Given the description of an element on the screen output the (x, y) to click on. 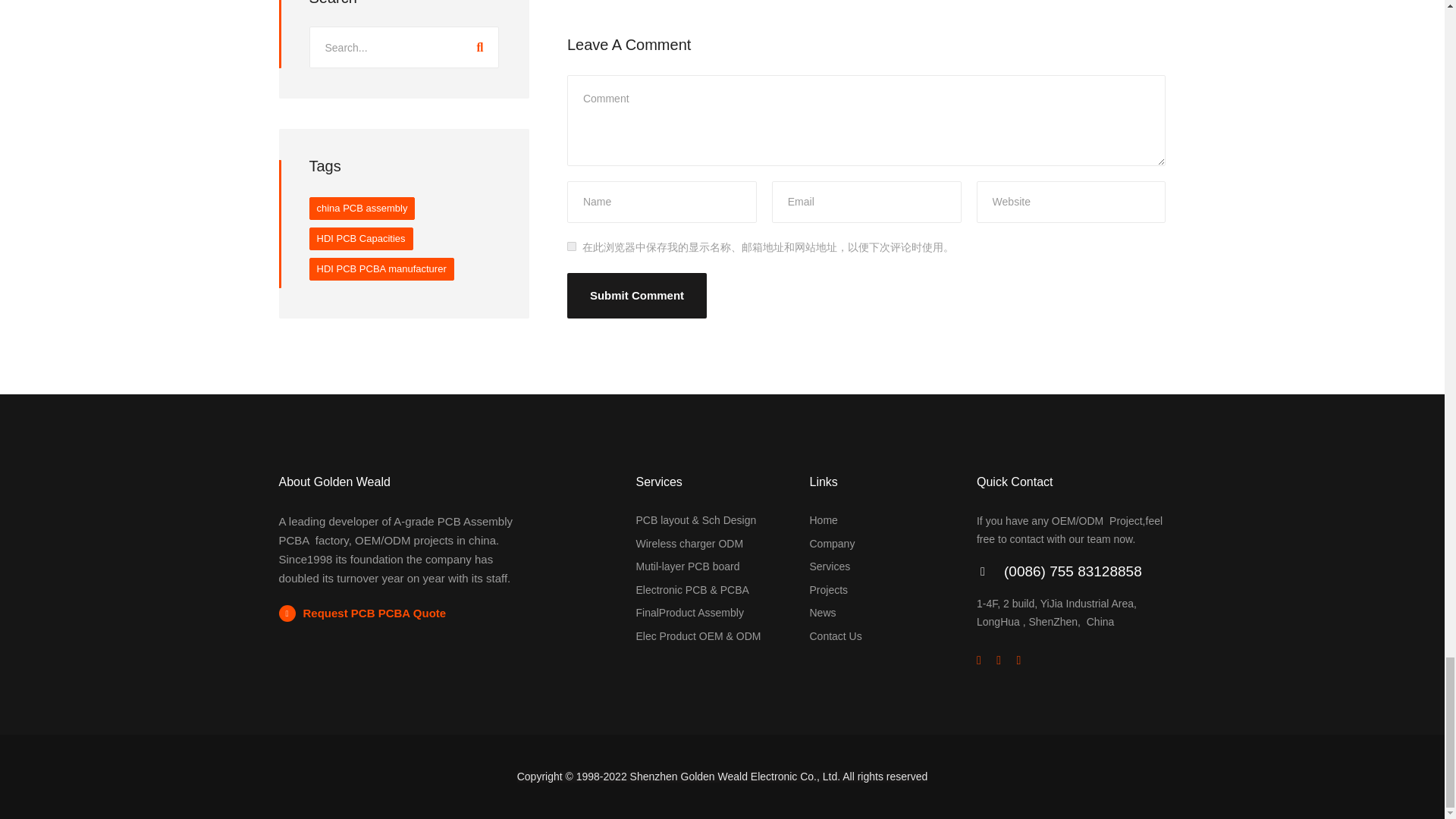
Submit Comment (636, 295)
China PCBA, PCB Assembly in china! (823, 520)
